Given the description of an element on the screen output the (x, y) to click on. 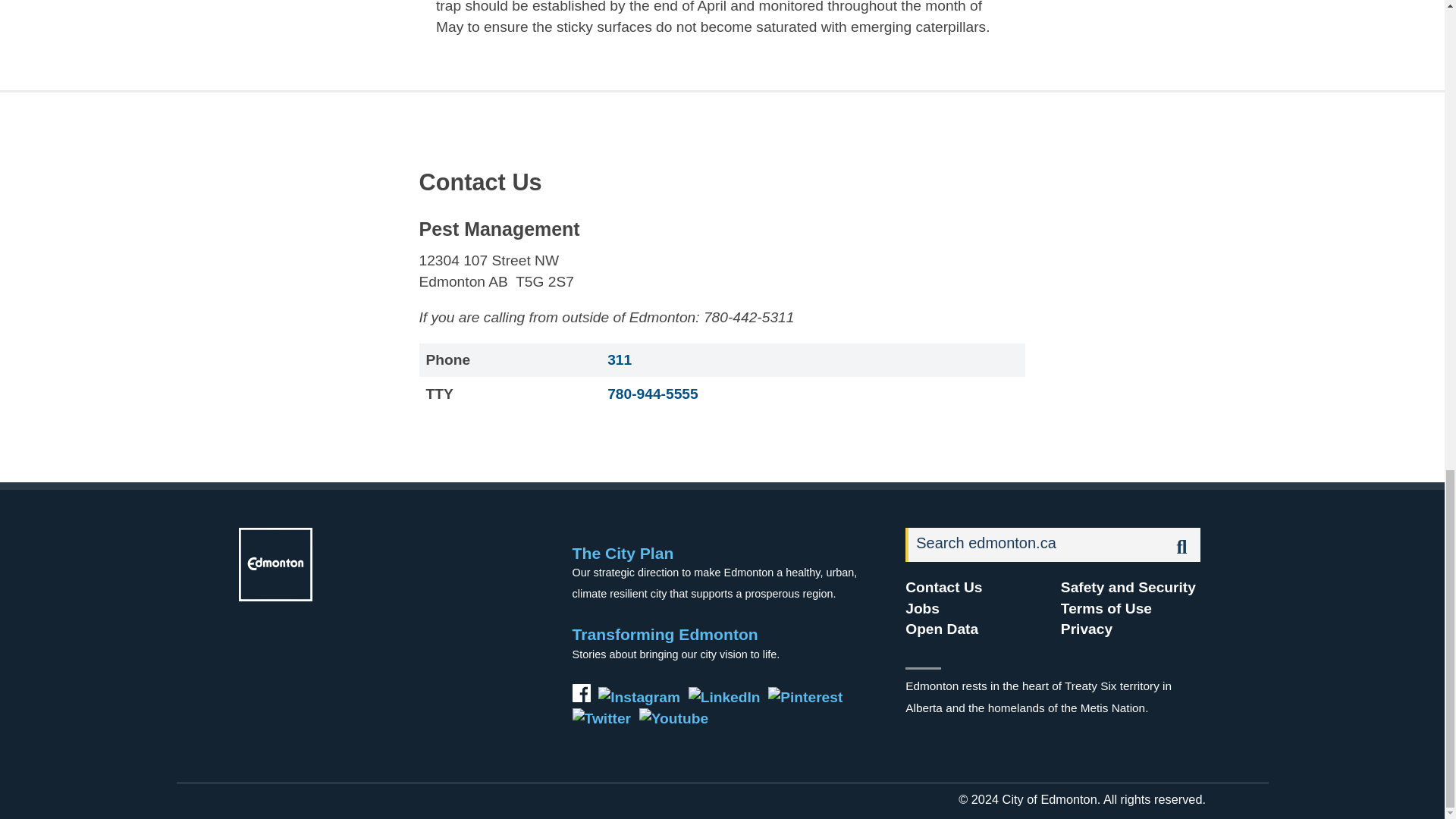
Search (1034, 544)
311 (619, 359)
The City Plan (623, 552)
780-944-5555 (652, 393)
Transforming Edmonton (665, 633)
